Given the description of an element on the screen output the (x, y) to click on. 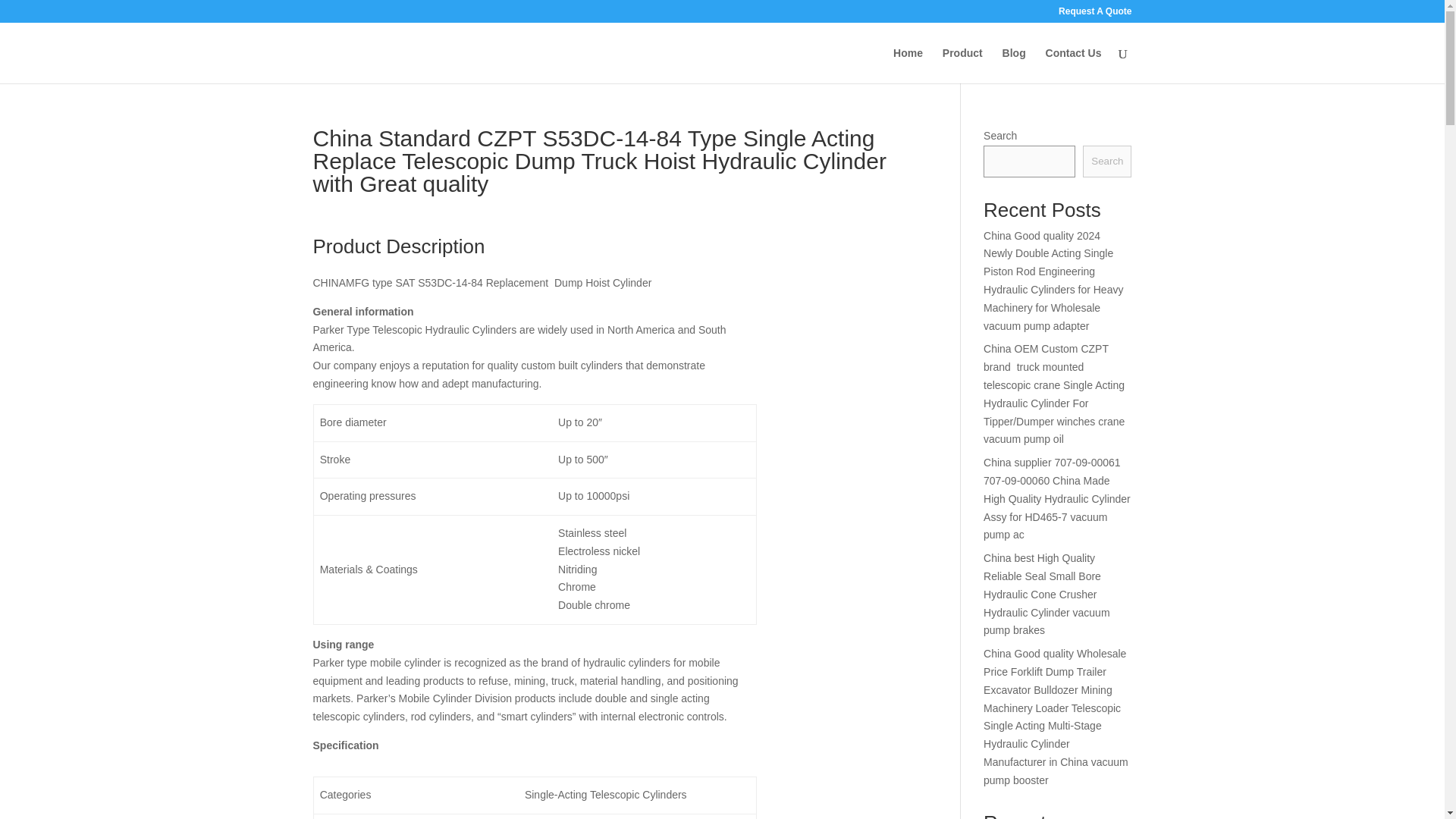
Search (1107, 161)
Request A Quote (1094, 14)
Contact Us (1073, 65)
Product (962, 65)
